Given the description of an element on the screen output the (x, y) to click on. 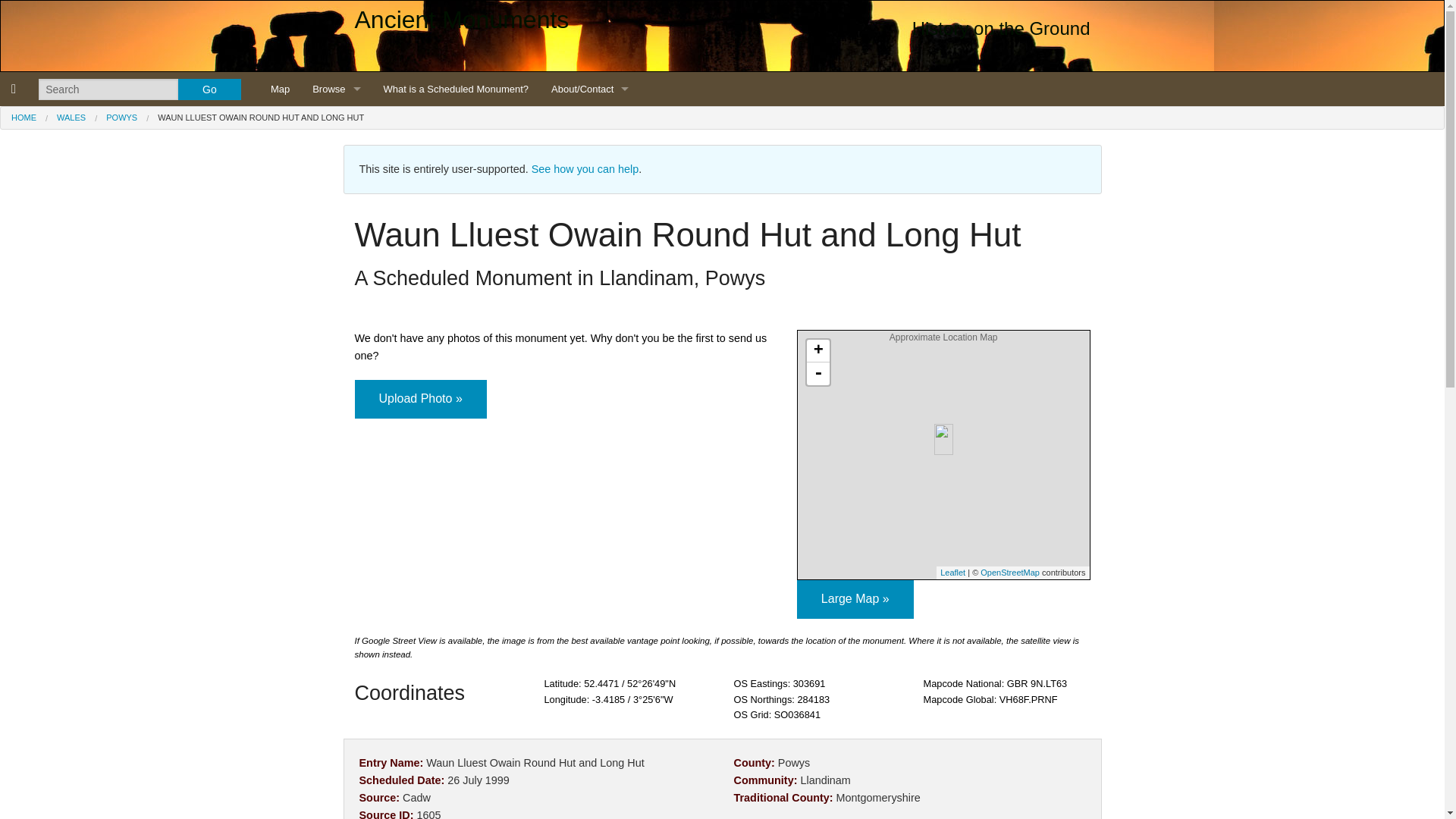
Important Information (590, 123)
Zoom in (817, 350)
About this site (590, 157)
Donate (590, 361)
A JS library for interactive maps (952, 572)
OpenStreetMap (1009, 572)
Scotland (336, 157)
Wales (336, 191)
See how you can help (585, 168)
England (336, 123)
